Given the description of an element on the screen output the (x, y) to click on. 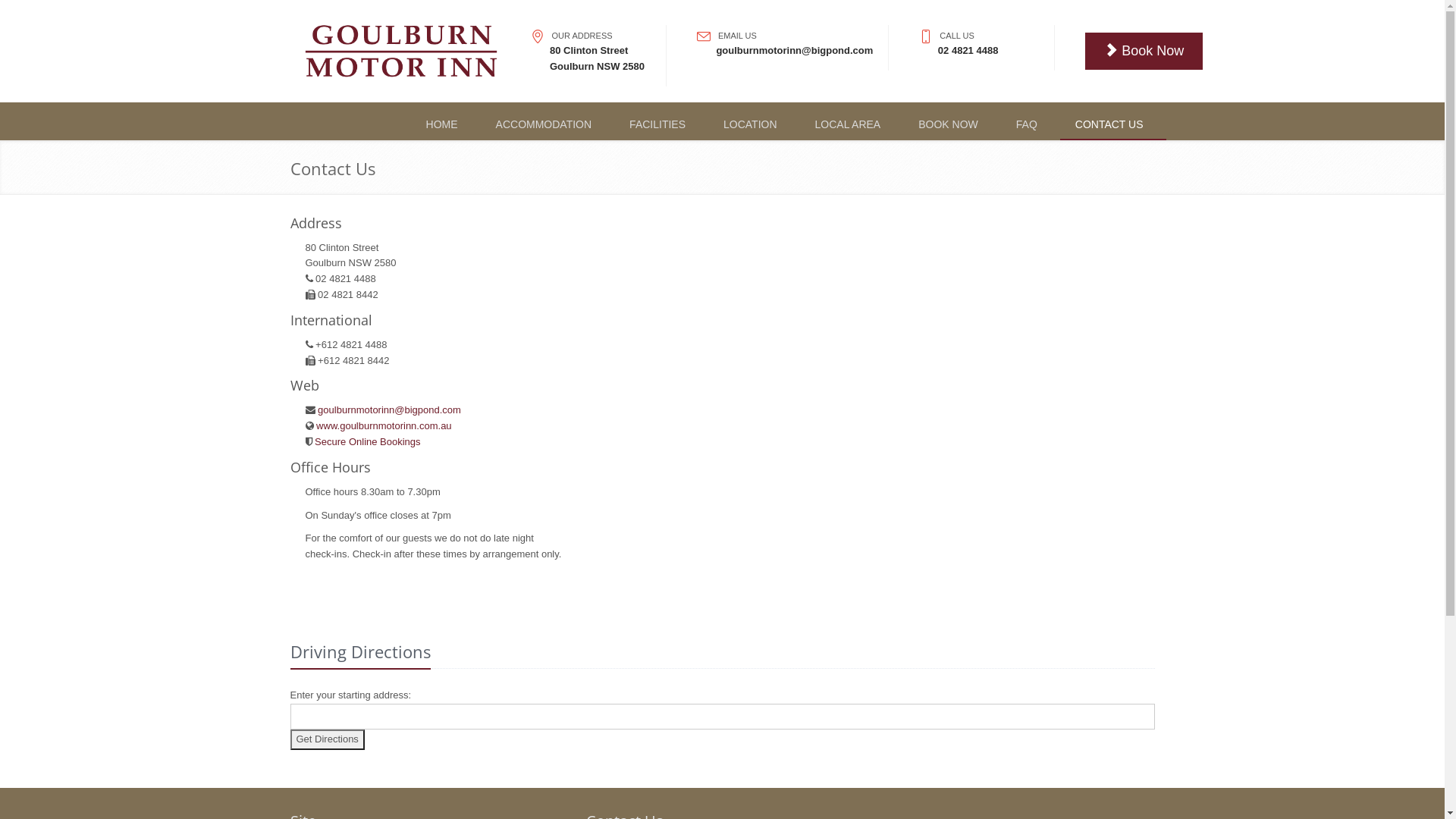
LOCATION Element type: text (754, 124)
FACILITIES Element type: text (661, 124)
CONTACT US Element type: text (1113, 124)
www.goulburnmotorinn.com.au Element type: text (382, 425)
LOCAL AREA Element type: text (851, 124)
HOME Element type: text (445, 124)
Book Now Element type: text (1143, 50)
Enter your starting address: Element type: text (721, 718)
Get Directions Element type: text (326, 739)
FAQ Element type: text (1030, 124)
BOOK NOW Element type: text (952, 124)
ACCOMMODATION Element type: text (547, 124)
Secure Online Bookings Element type: text (366, 441)
goulburnmotorinn@bigpond.com Element type: text (388, 409)
